Given the description of an element on the screen output the (x, y) to click on. 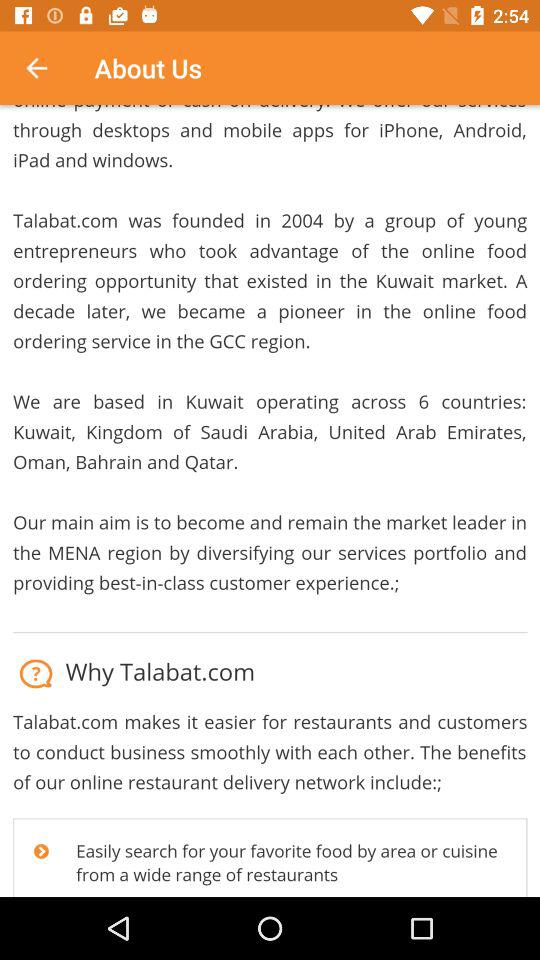
go back (47, 68)
